Given the description of an element on the screen output the (x, y) to click on. 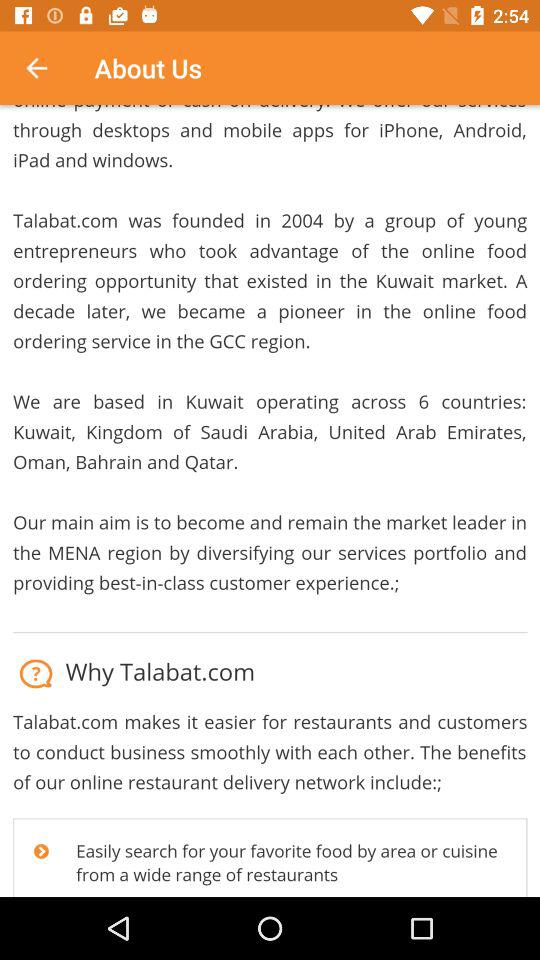
go back (47, 68)
